Given the description of an element on the screen output the (x, y) to click on. 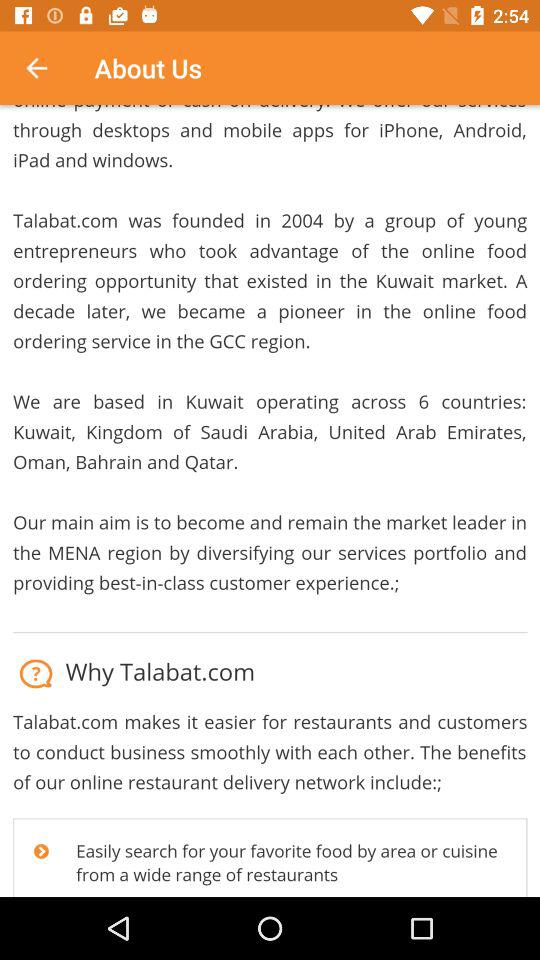
go back (47, 68)
